Given the description of an element on the screen output the (x, y) to click on. 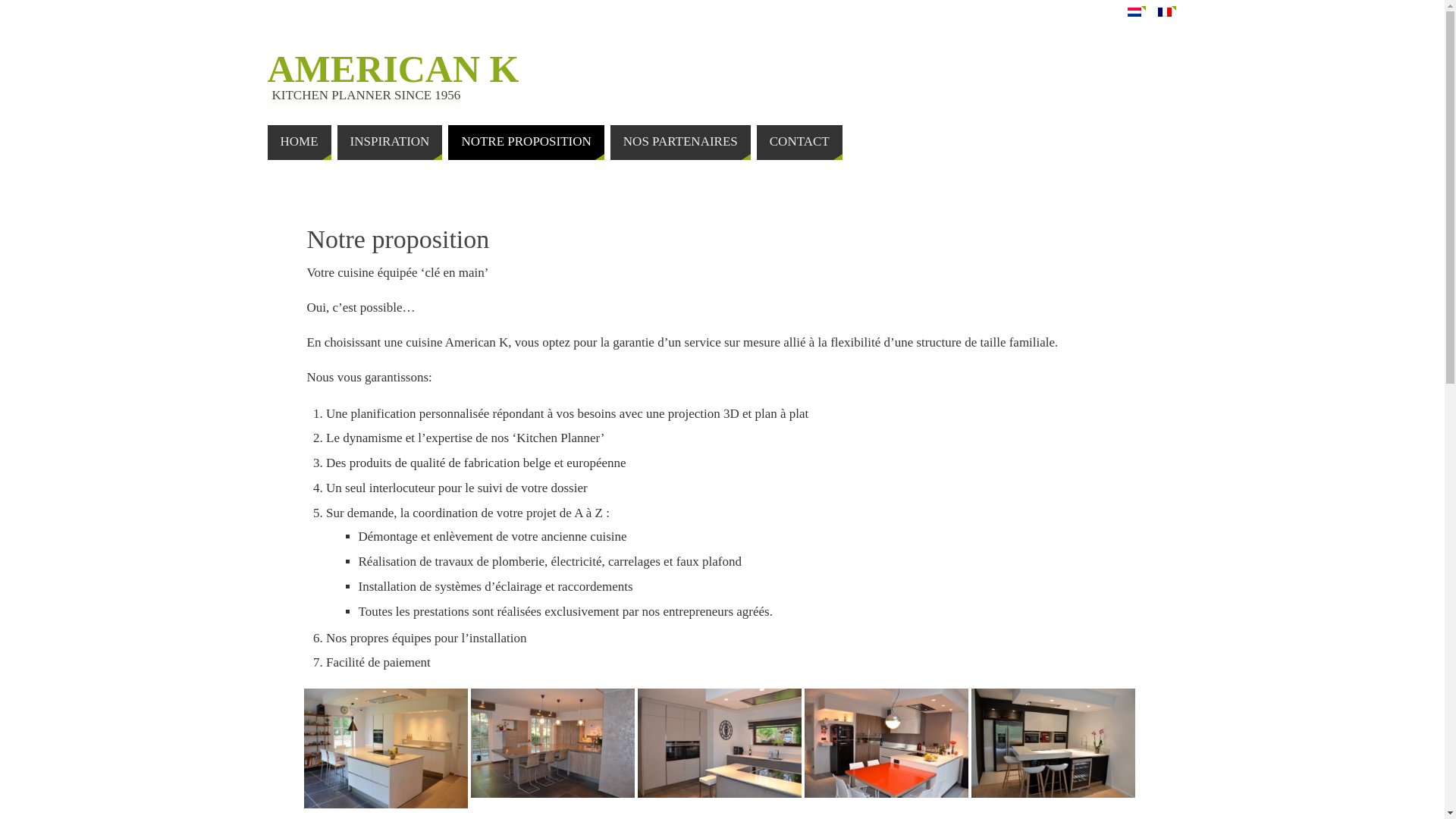
NOTRE PROPOSITION Element type: text (525, 142)
INSPIRATION Element type: text (389, 142)
Nederlands Element type: hover (1133, 11)
CONTACT Element type: text (799, 142)
NOS PARTENAIRES Element type: text (680, 142)
AMERICAN K Element type: text (392, 68)
HOME Element type: text (298, 142)
